Given the description of an element on the screen output the (x, y) to click on. 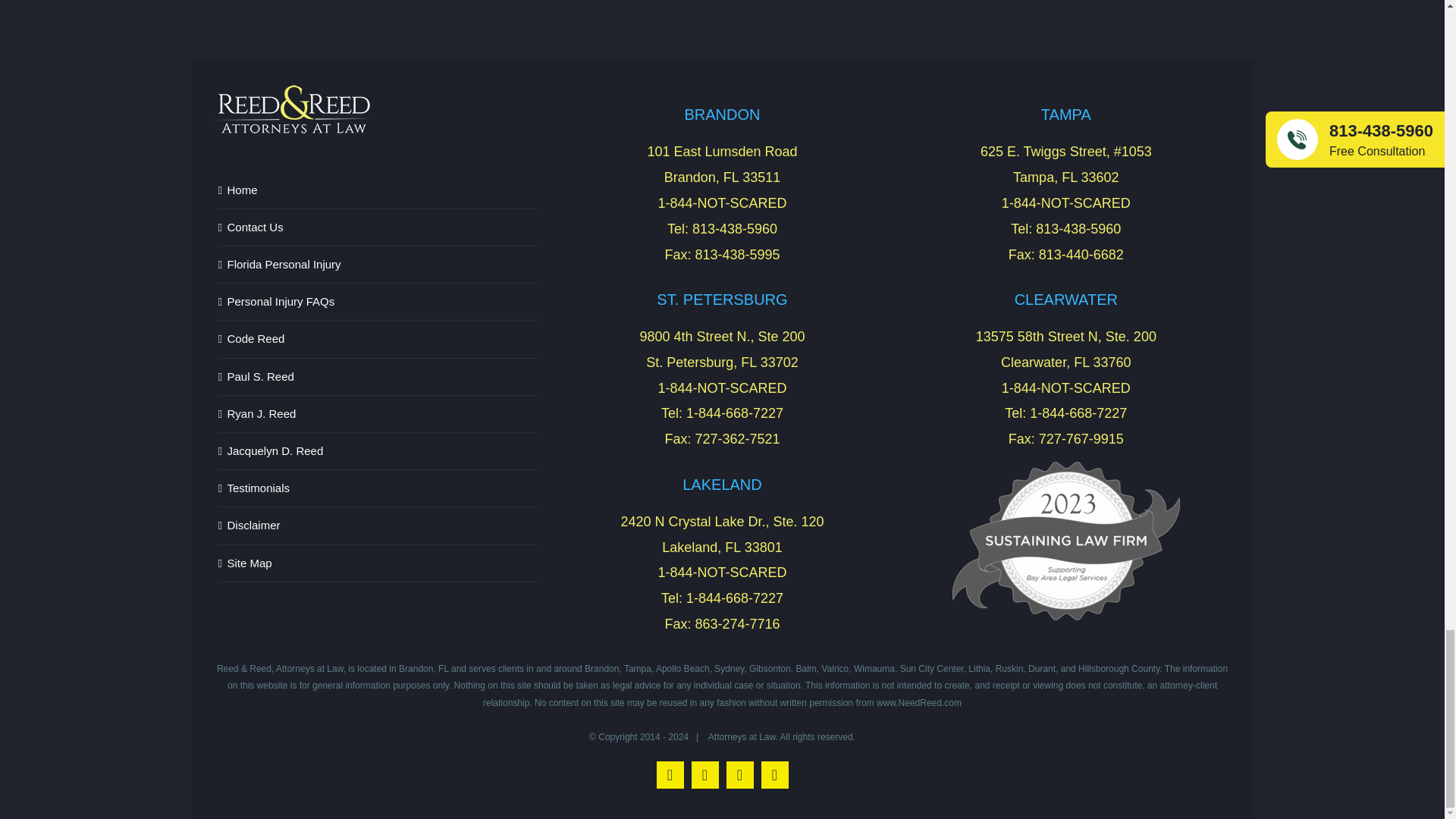
Facebook (670, 774)
YouTube (740, 774)
X (775, 774)
Instagram (705, 774)
